Given the description of an element on the screen output the (x, y) to click on. 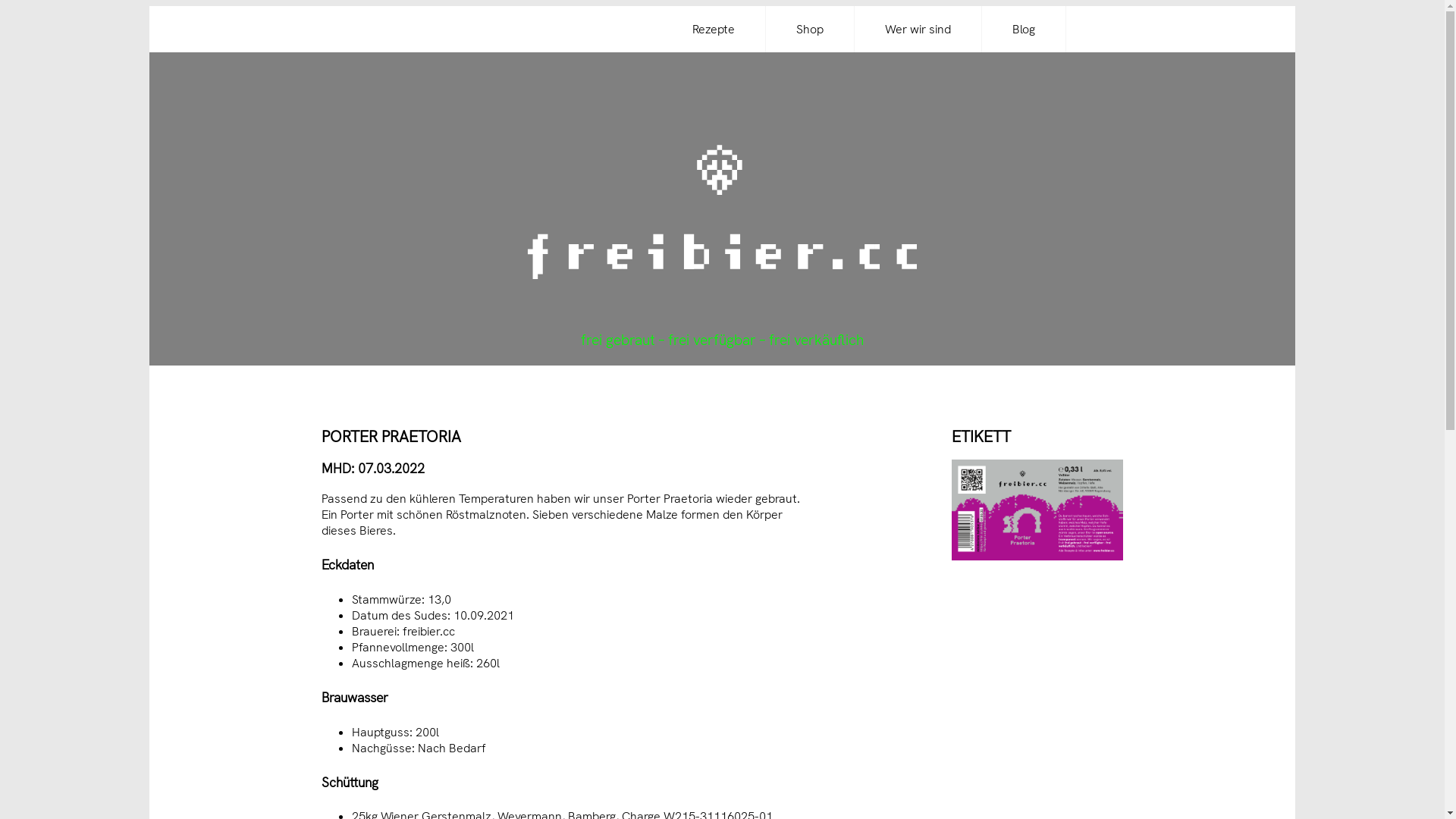
Wer wir sind Element type: text (918, 29)
Shop Element type: text (809, 29)
Rezepte Element type: text (713, 29)
Blog Element type: text (1024, 29)
